Given the description of an element on the screen output the (x, y) to click on. 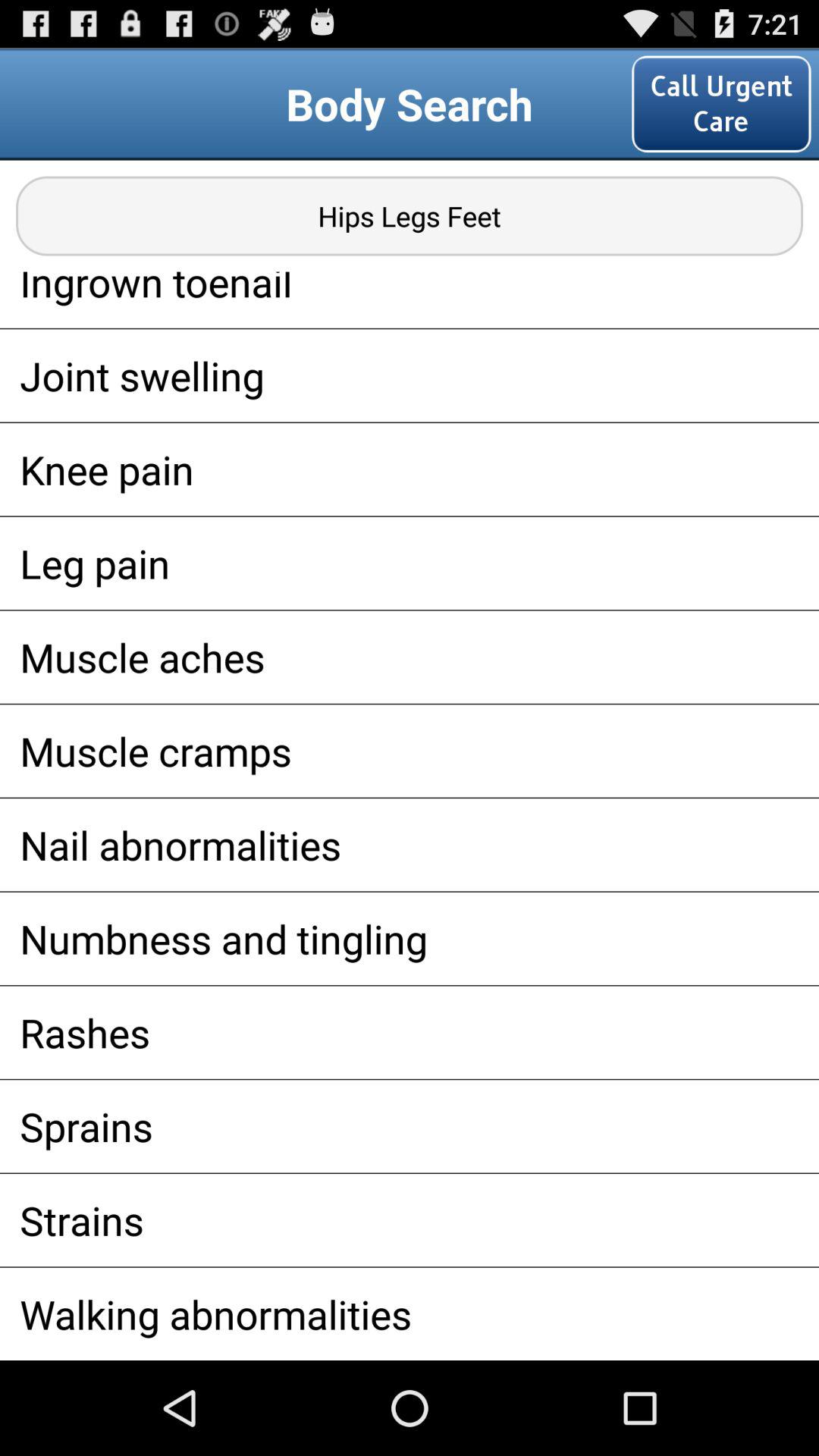
turn off the item above walking abnormalities icon (409, 1219)
